Given the description of an element on the screen output the (x, y) to click on. 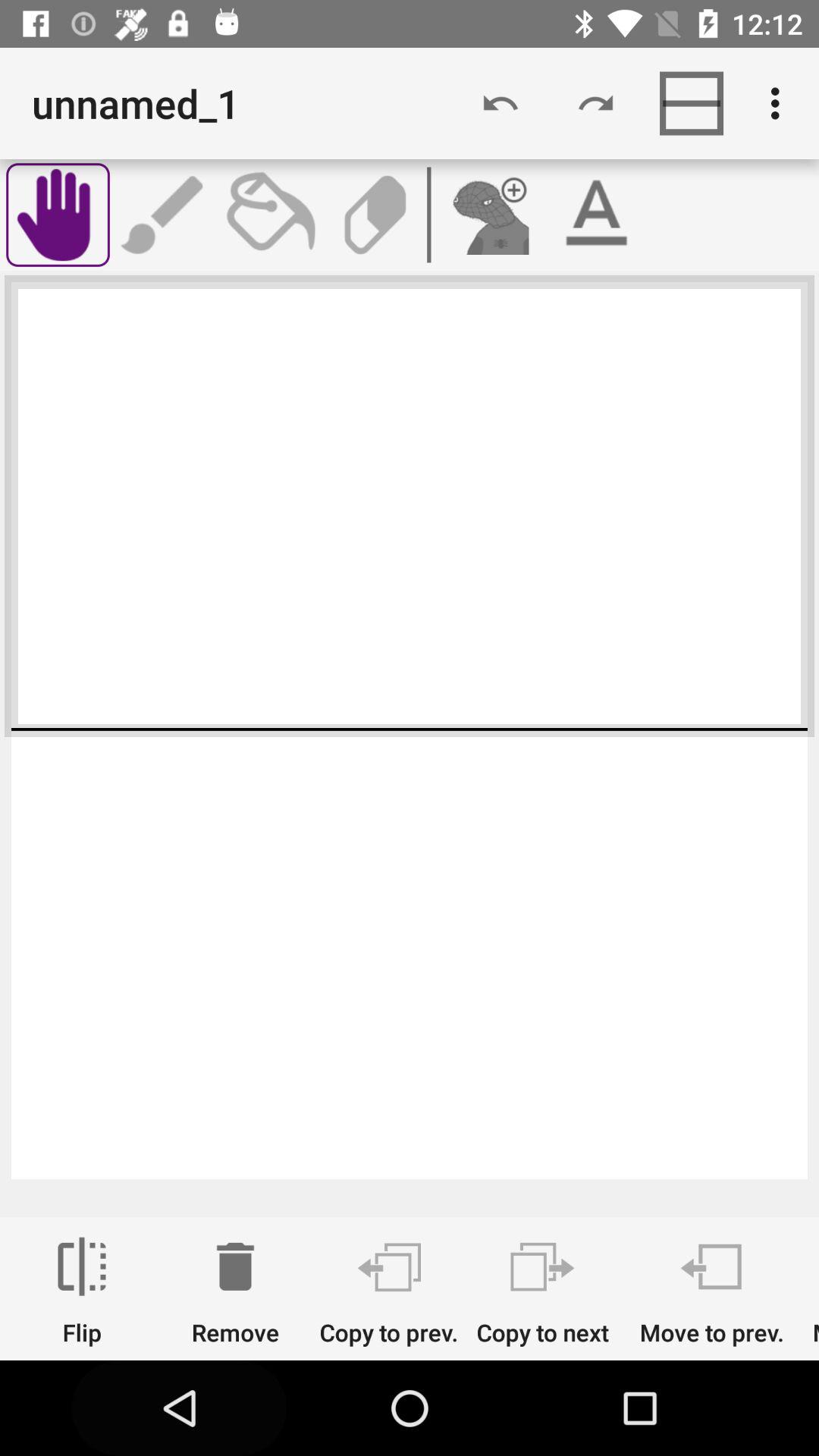
pan canvas (57, 214)
